Given the description of an element on the screen output the (x, y) to click on. 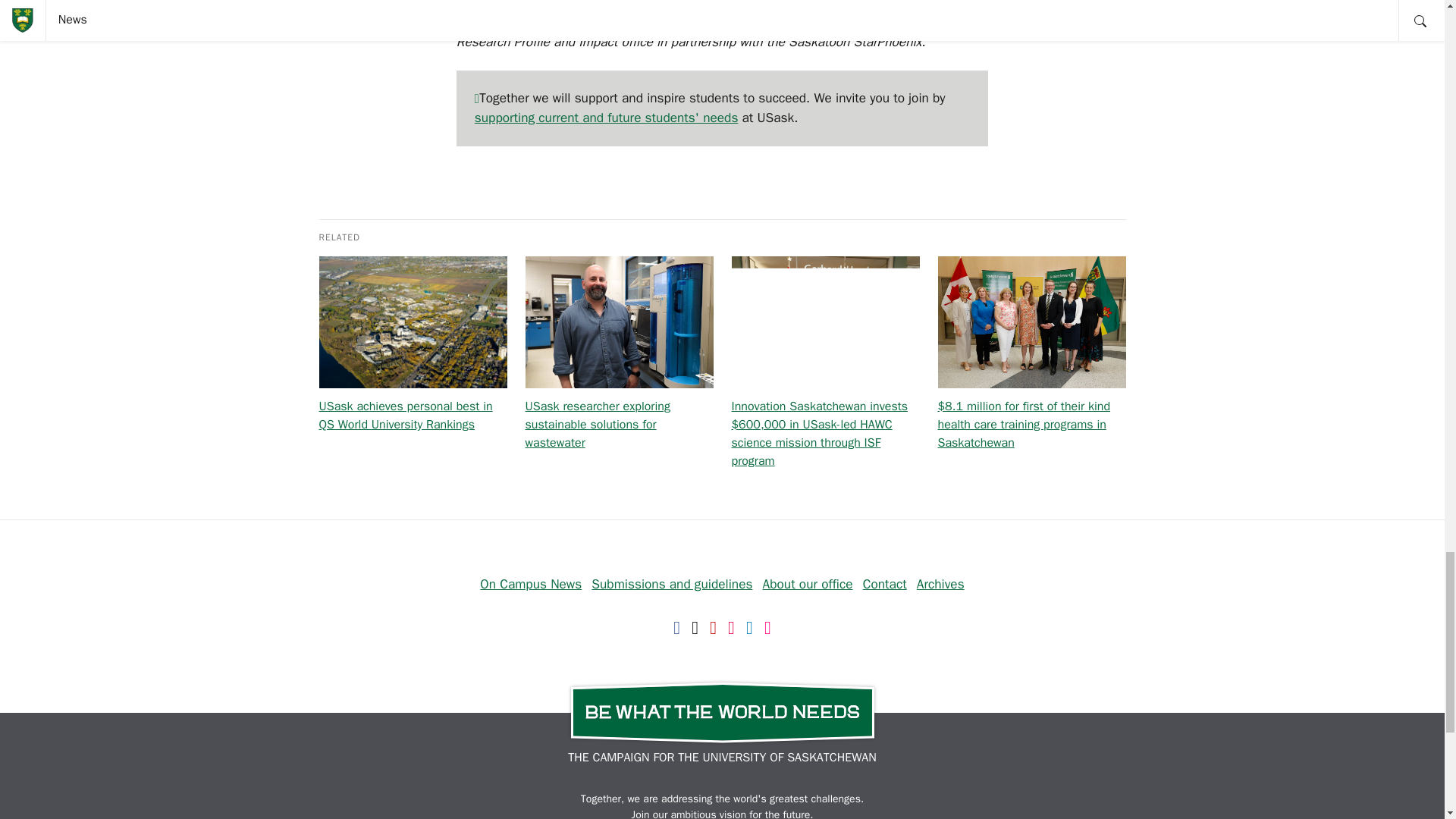
On Campus News (530, 583)
supporting current and future students' needs (606, 117)
About our office (807, 583)
USask achieves personal best in QS World University Rankings (405, 415)
Join our ambitious vision (688, 813)
Contact (885, 583)
Archives (940, 583)
Submissions and guidelines (671, 583)
